Given the description of an element on the screen output the (x, y) to click on. 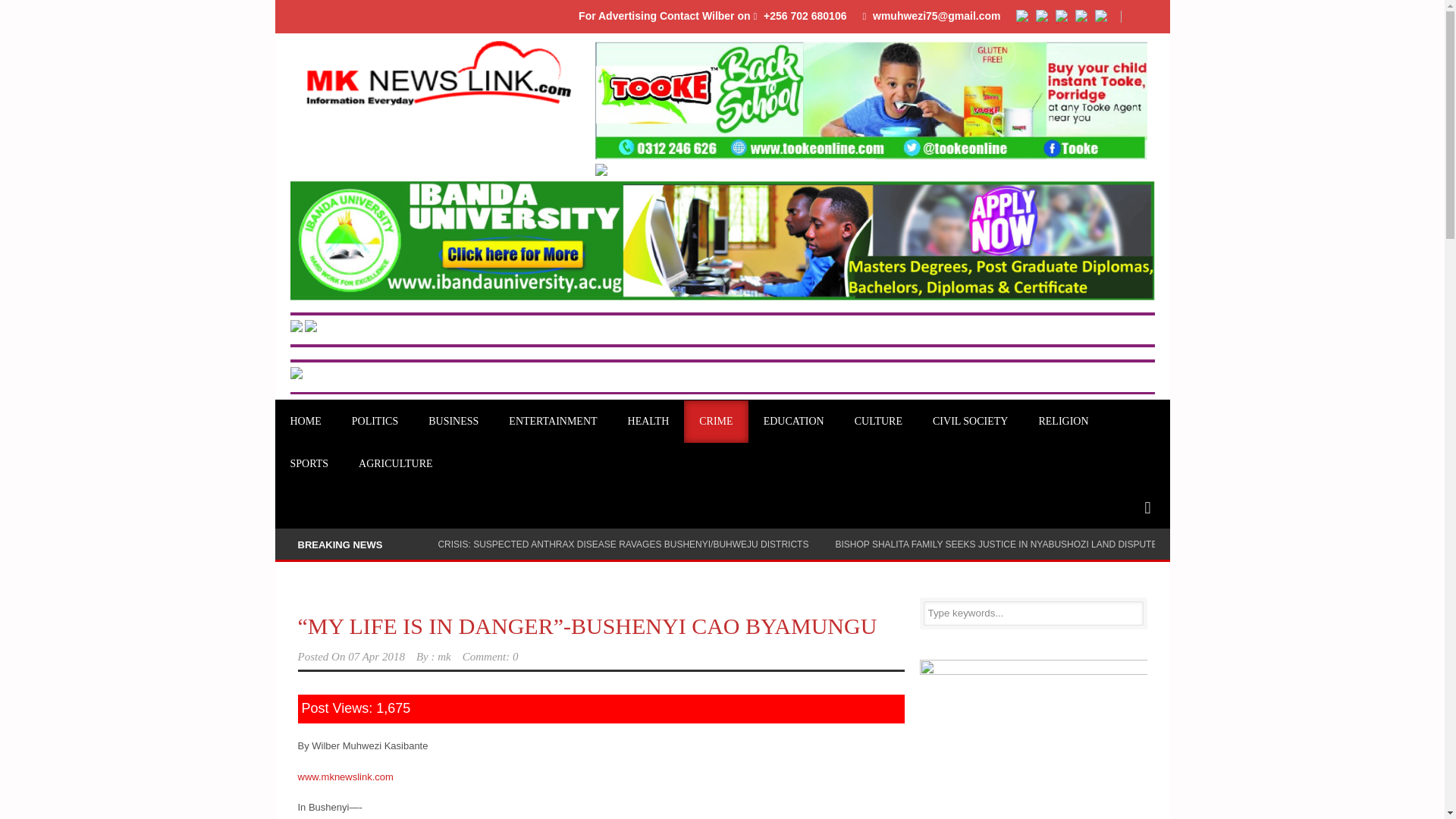
CULTURE (878, 421)
www.mknewslink.com (345, 776)
RELIGION (1063, 421)
AGRICULTURE (395, 464)
CRIME (716, 421)
Type keywords... (1032, 613)
mk (444, 656)
EDUCATION (794, 421)
HOME (305, 421)
BUSINESS (453, 421)
Posts by mk (444, 656)
Comment: 0 (490, 656)
SPORTS (309, 464)
07 Apr 2018 (375, 656)
ENTERTAINMENT (552, 421)
